Given the description of an element on the screen output the (x, y) to click on. 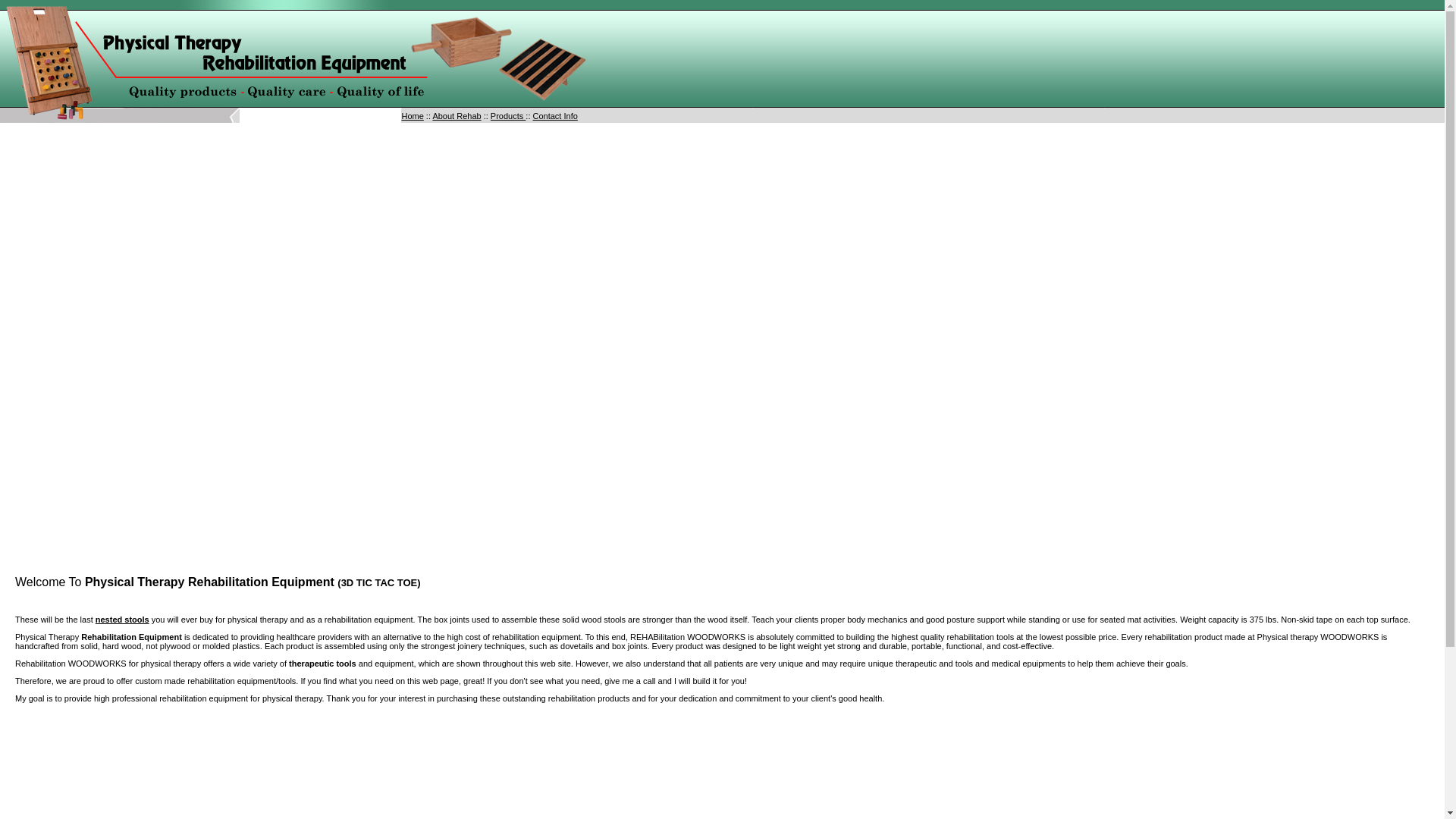
Home (412, 115)
Advertisement (141, 466)
Contact Info (554, 115)
About Rehab (456, 115)
Products (507, 115)
Advertisement (721, 765)
nested stools (122, 619)
